Given the description of an element on the screen output the (x, y) to click on. 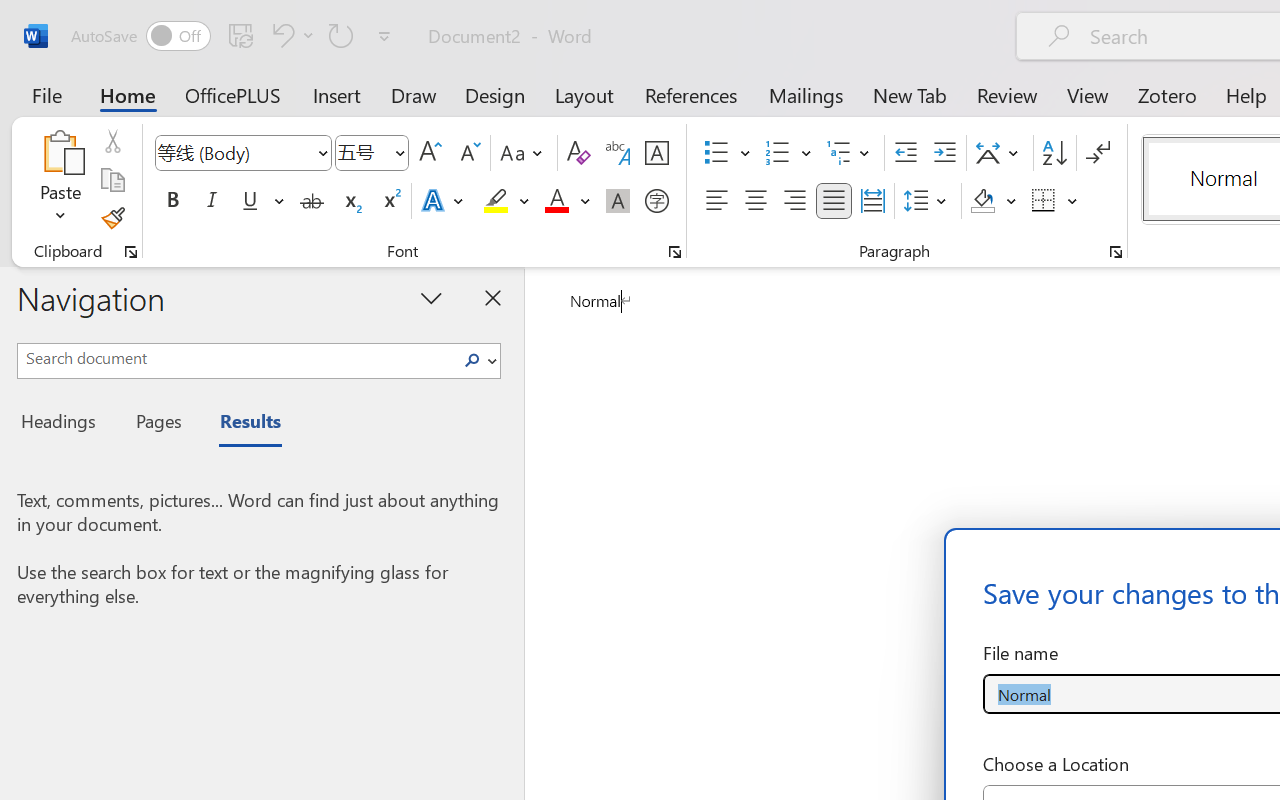
Decrease Indent (906, 153)
Asian Layout (1000, 153)
Line and Paragraph Spacing (927, 201)
Task Pane Options (431, 297)
Customize Quick Access Toolbar (384, 35)
Search document (236, 358)
Distributed (872, 201)
References (690, 94)
Open (399, 152)
Office Clipboard... (131, 252)
Align Left (716, 201)
Font... (675, 252)
